Given the description of an element on the screen output the (x, y) to click on. 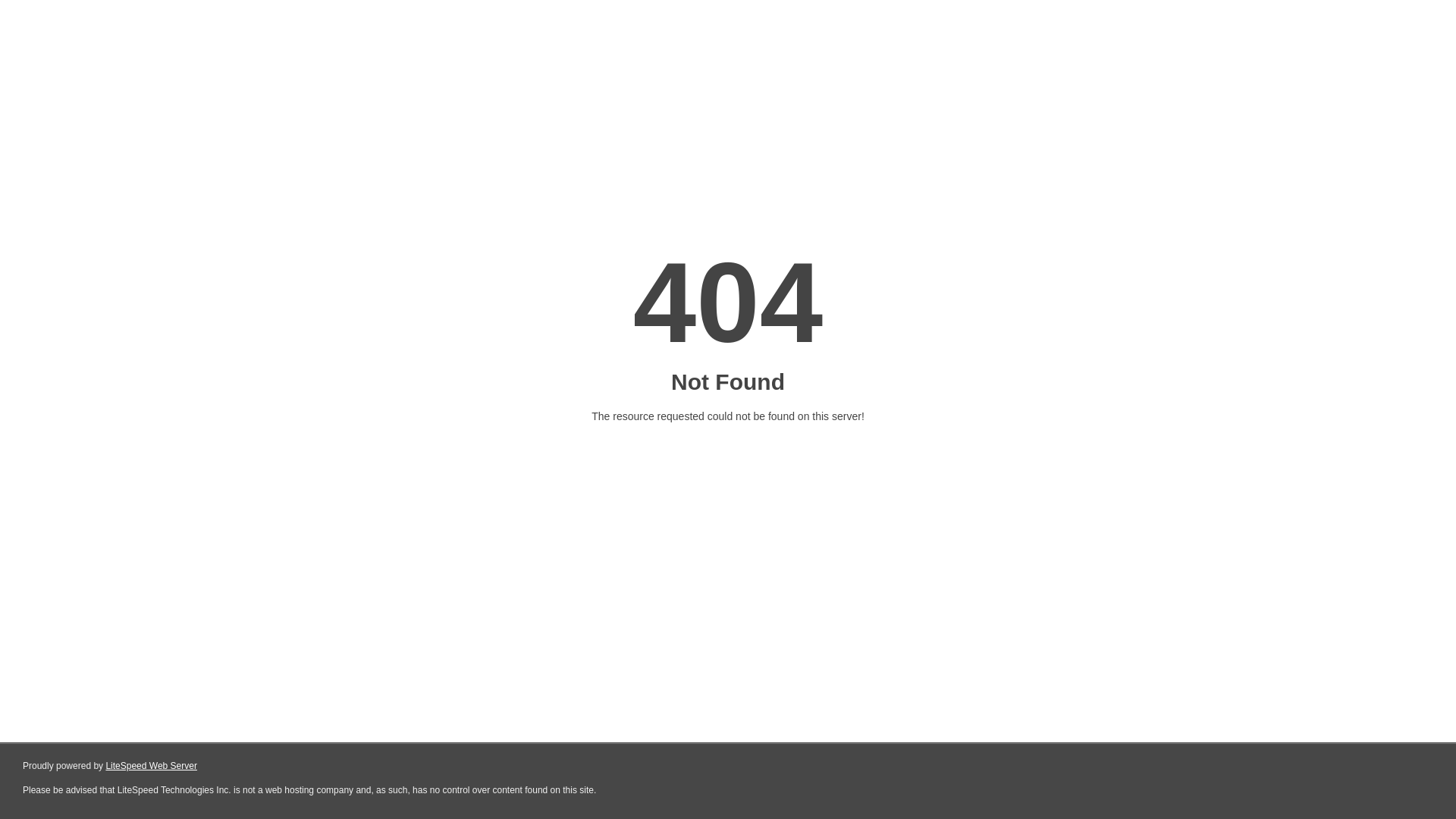
LiteSpeed Web Server (150, 765)
